Given the description of an element on the screen output the (x, y) to click on. 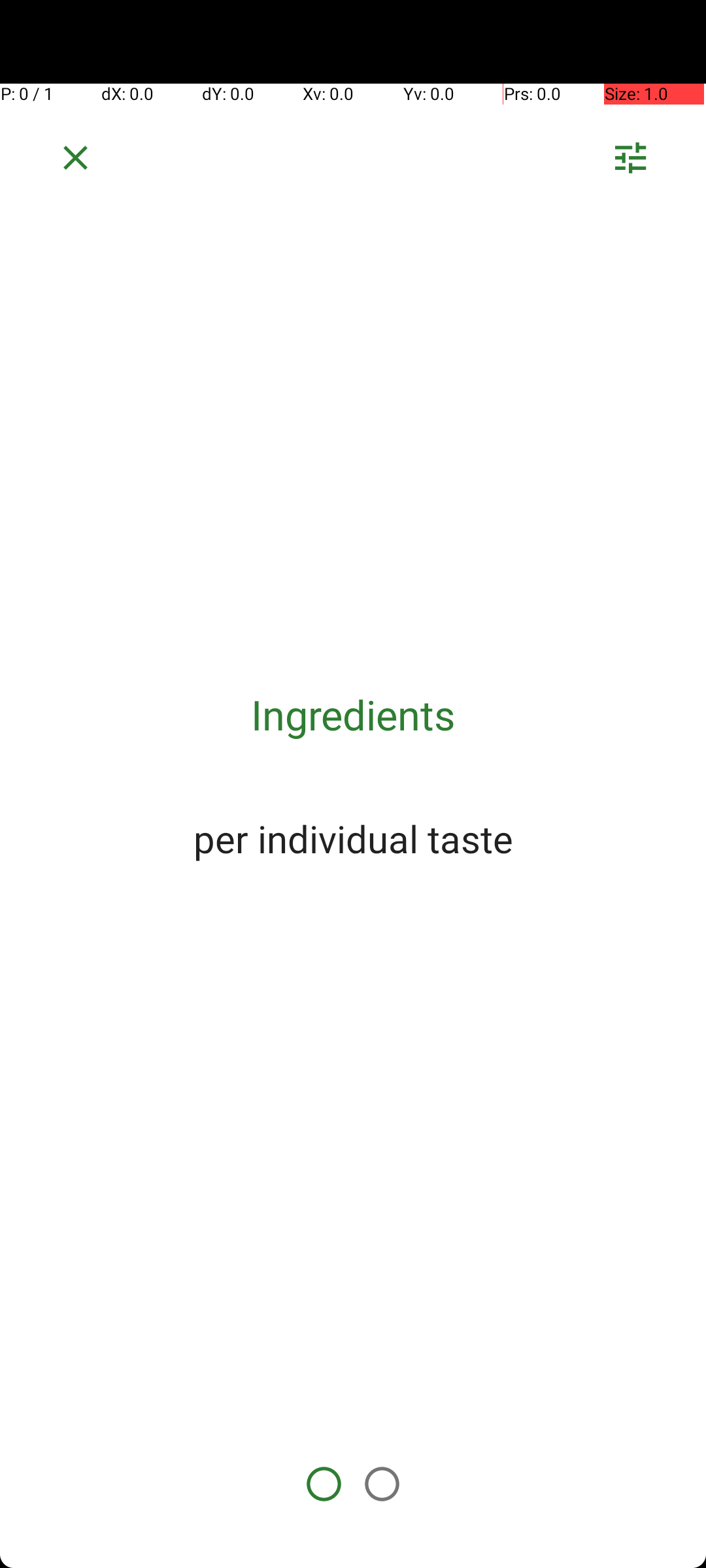
per individual taste Element type: android.widget.TextView (353, 838)
